Given the description of an element on the screen output the (x, y) to click on. 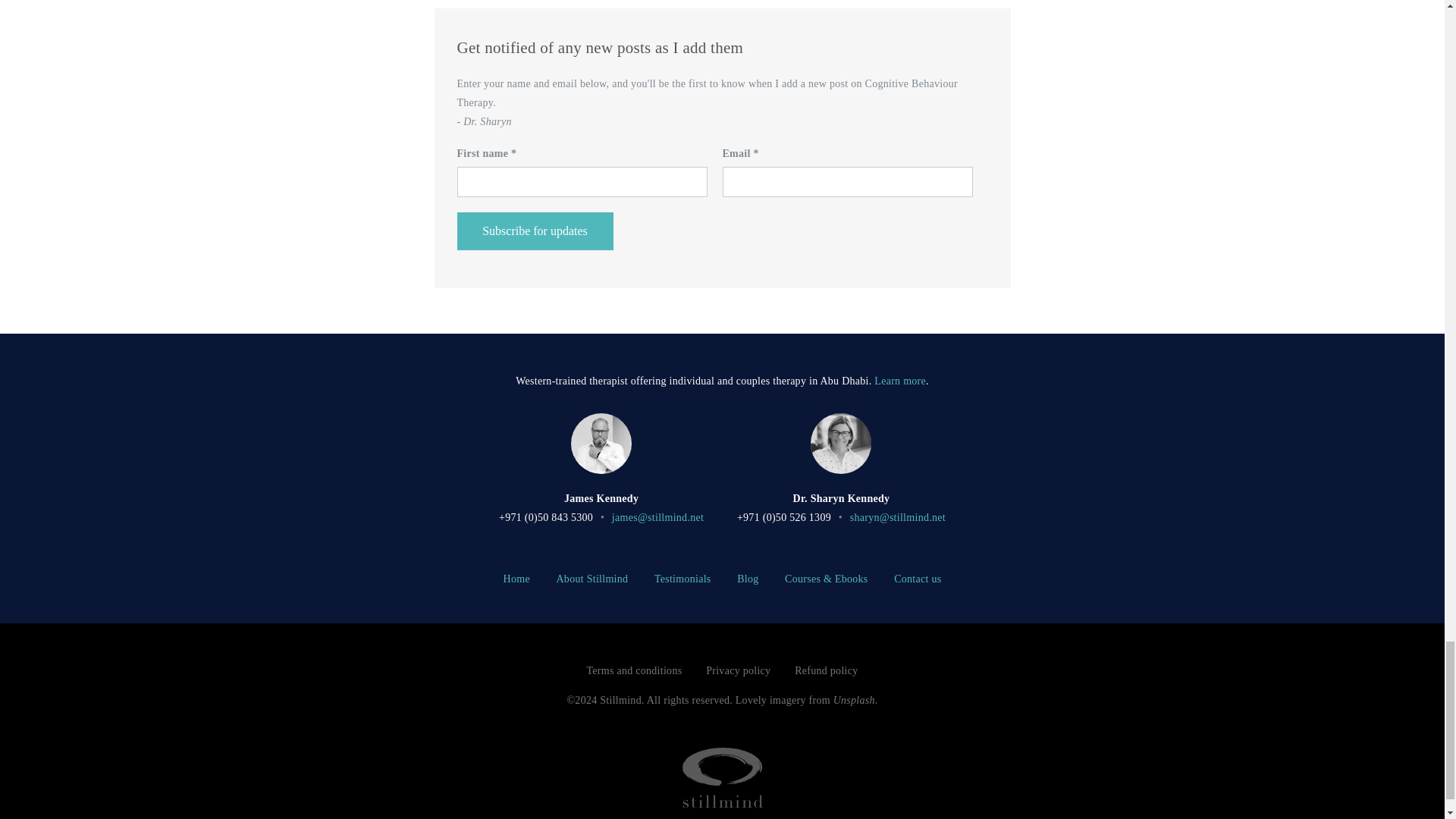
Refund policy (825, 670)
Subscribe for updates (534, 231)
Learn more (900, 380)
Contact us (916, 578)
Subscribe for updates (534, 231)
Unsplash (853, 699)
Email (847, 182)
About Stillmind (591, 578)
Terms and conditions (633, 670)
Privacy policy (738, 670)
